Given the description of an element on the screen output the (x, y) to click on. 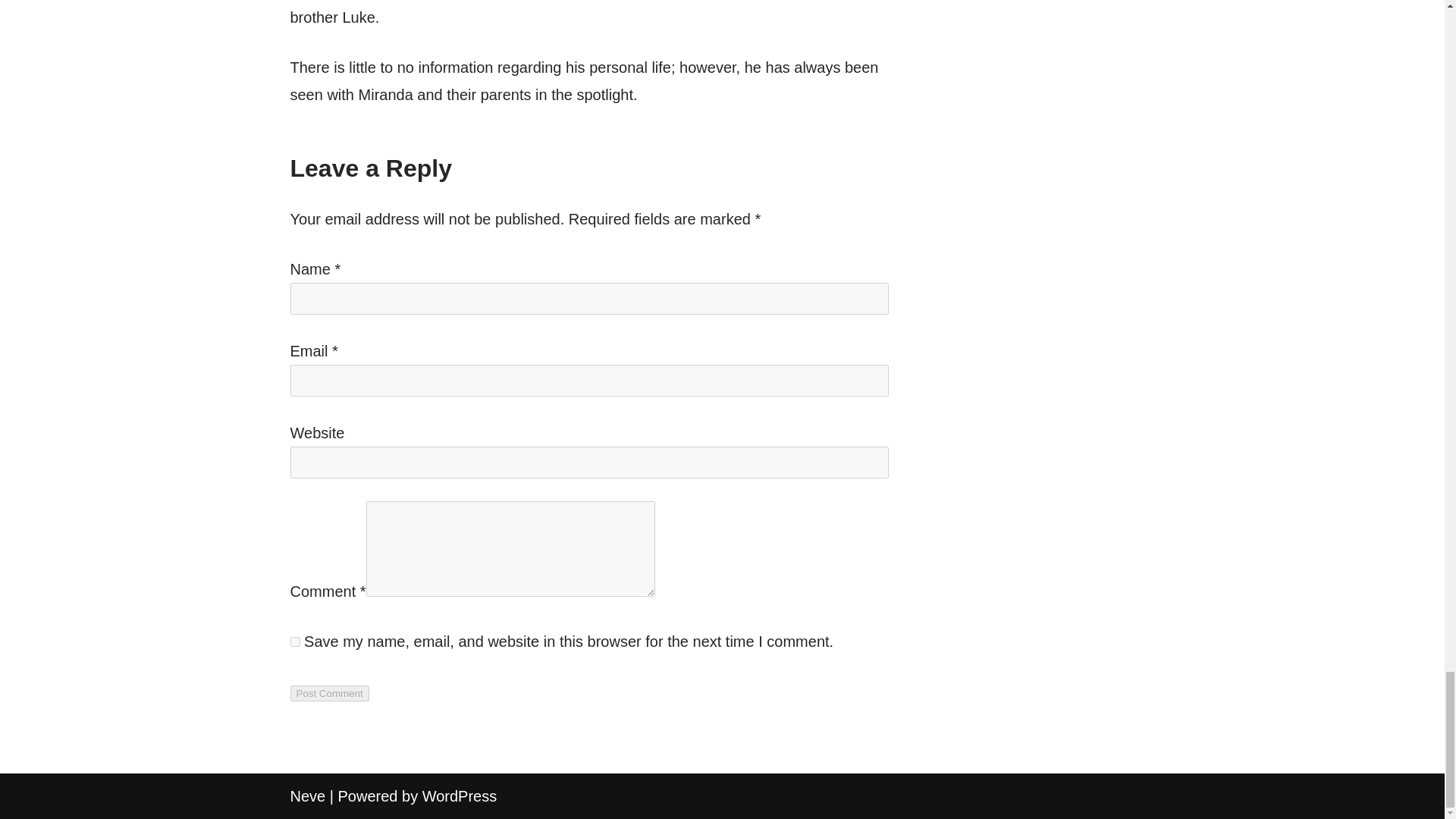
WordPress (459, 795)
Post Comment (328, 693)
yes (294, 642)
Neve (306, 795)
Post Comment (328, 693)
